Given the description of an element on the screen output the (x, y) to click on. 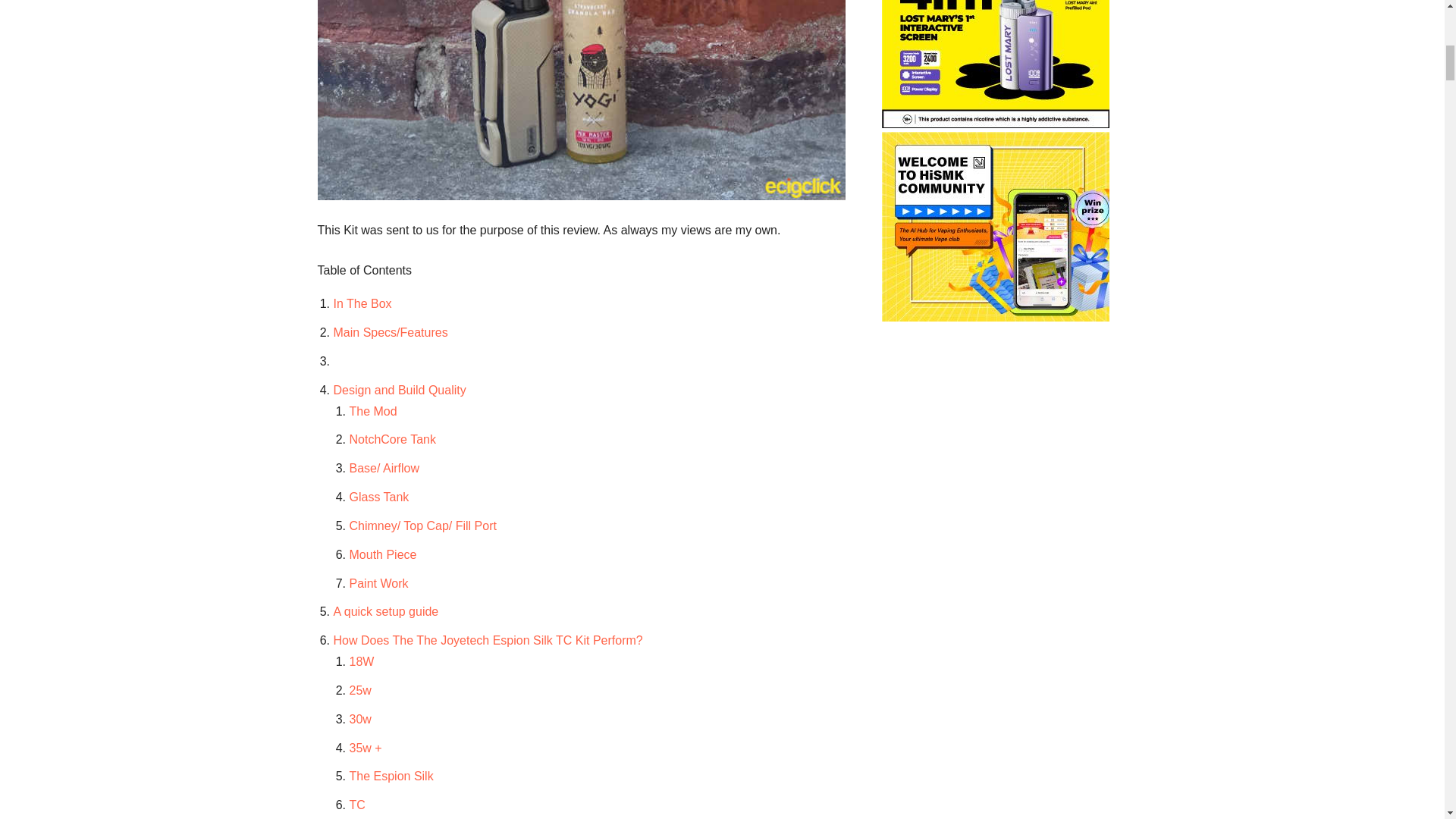
Design and Build Quality (399, 390)
In The Box (362, 303)
NotchCore Tank (392, 439)
The Mod (372, 410)
